Given the description of an element on the screen output the (x, y) to click on. 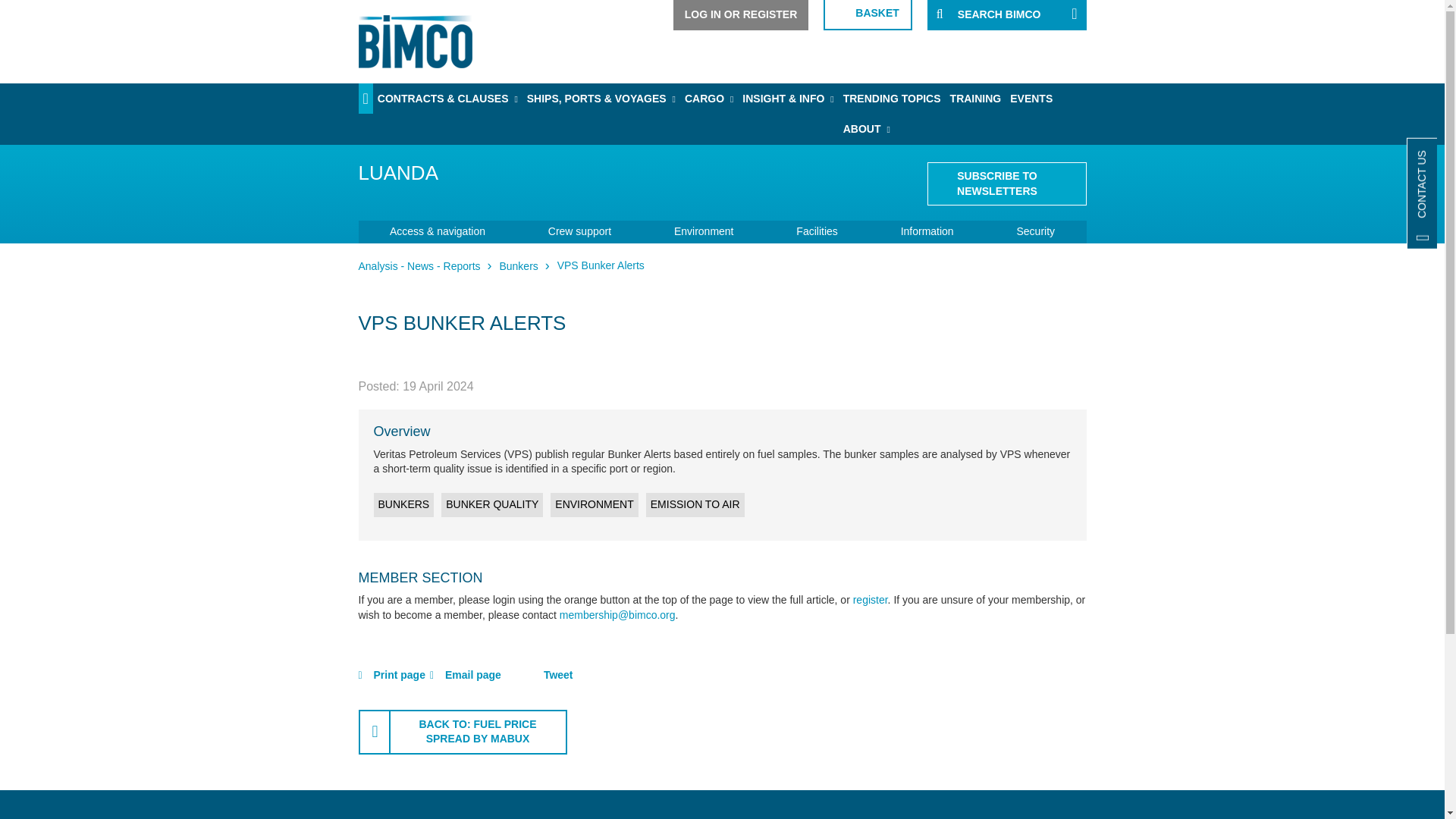
SEARCH BIMCO (1006, 15)
BASKET (868, 15)
CARGO (708, 98)
LOG IN OR REGISTER (740, 15)
